Given the description of an element on the screen output the (x, y) to click on. 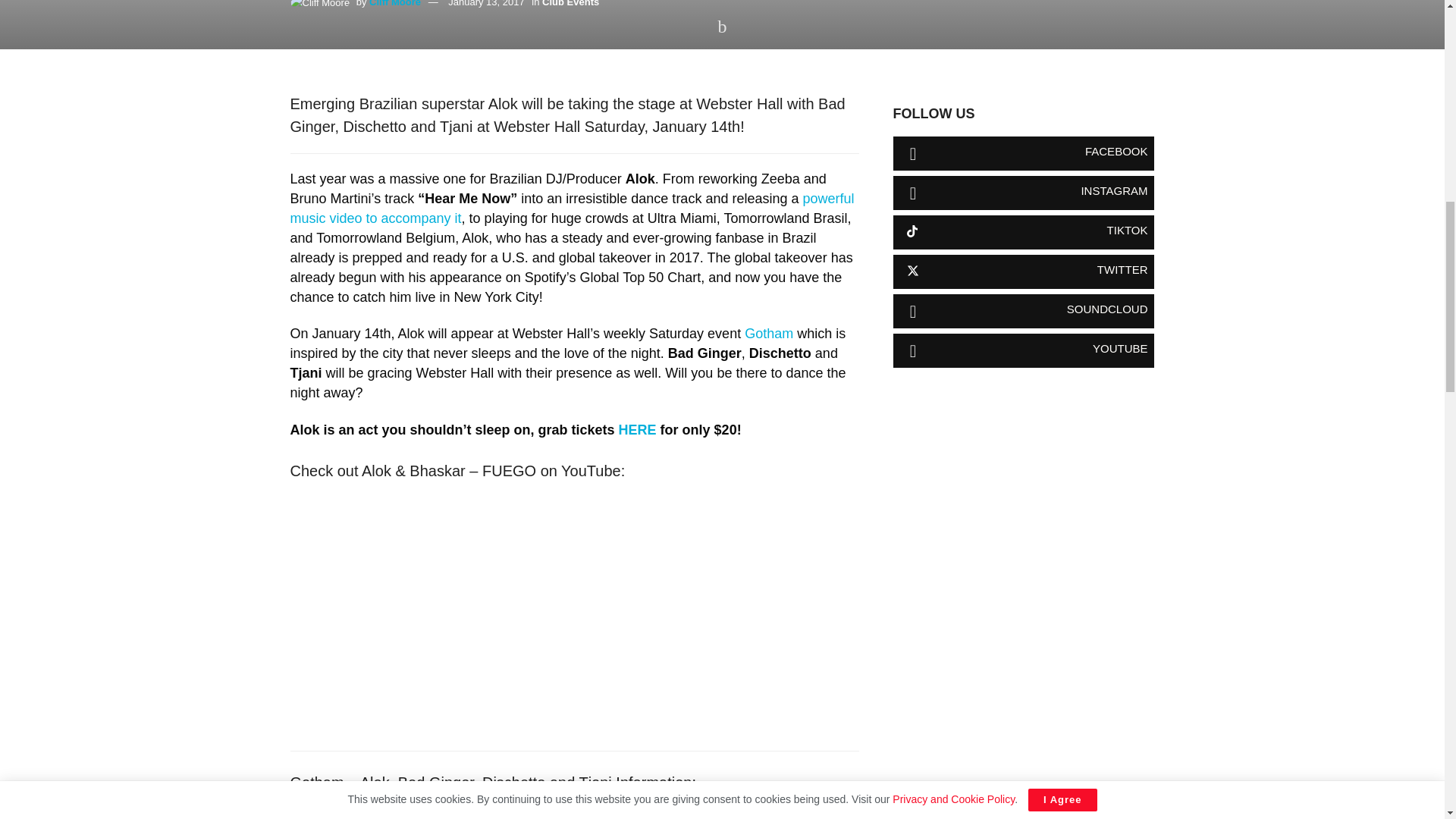
Cliff Moore (394, 3)
HERE (637, 429)
Gotham (768, 333)
January 13, 2017 (486, 3)
Club Events (569, 3)
powerful music video to accompany it (571, 208)
